Given the description of an element on the screen output the (x, y) to click on. 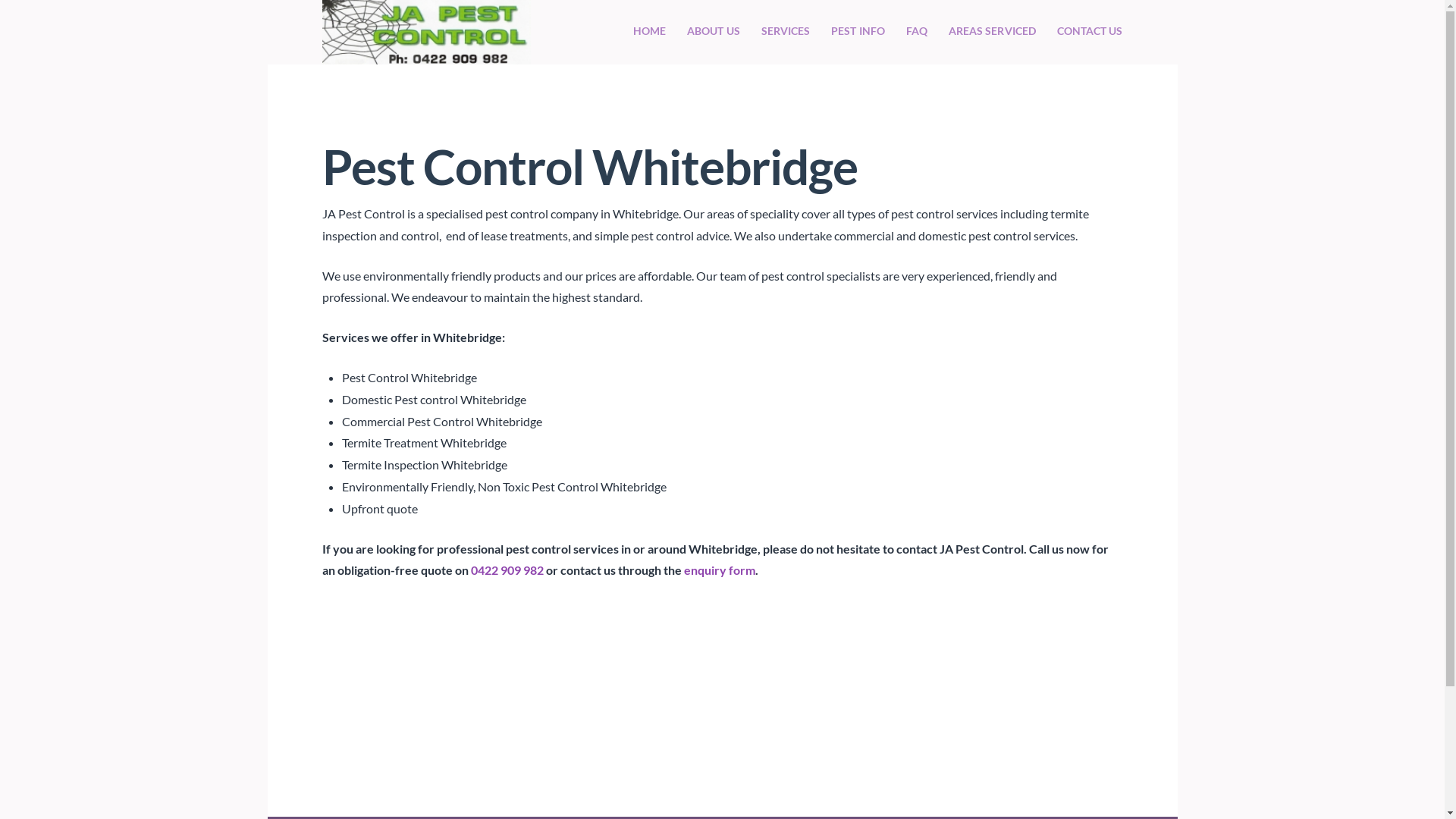
FAQ Element type: text (916, 32)
PEST INFO Element type: text (857, 32)
HOME Element type: text (649, 32)
enquiry form Element type: text (719, 569)
ABOUT US Element type: text (713, 32)
0422 909 982 Element type: text (506, 569)
SERVICES Element type: text (785, 32)
CONTACT US Element type: text (1084, 32)
AREAS SERVICED Element type: text (992, 32)
